Given the description of an element on the screen output the (x, y) to click on. 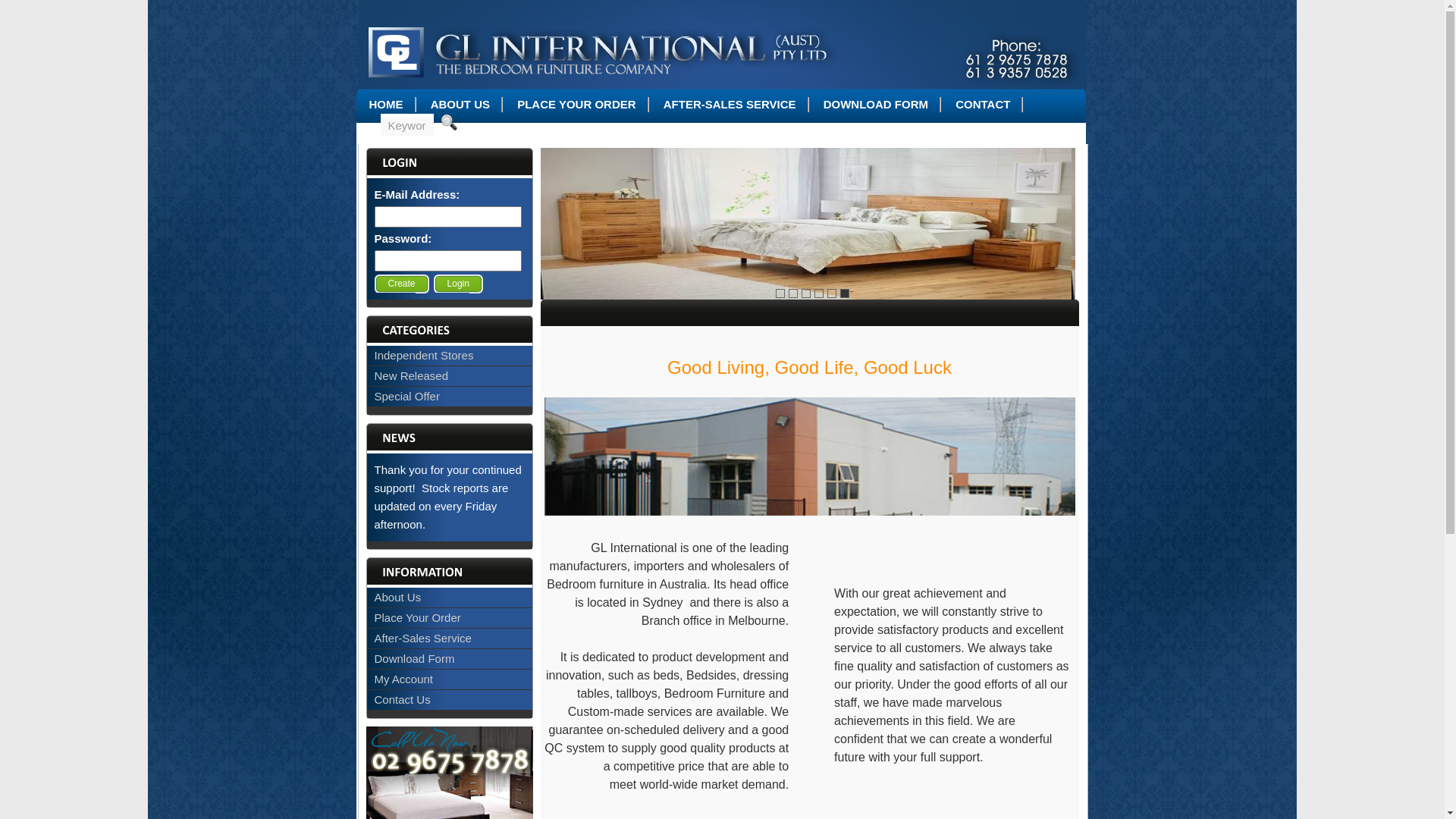
6 Element type: text (844, 293)
Independent Stores Element type: text (423, 354)
After-Sales Service Element type: text (422, 637)
Contact Us Element type: text (402, 699)
Create Element type: text (401, 283)
PLACE YOUR ORDER Element type: text (575, 104)
About Us Element type: text (397, 596)
Place Your Order Element type: text (417, 617)
ABOUT US Element type: text (460, 104)
DOWNLOAD FORM Element type: text (875, 104)
Login Element type: text (458, 283)
My Account Element type: text (403, 678)
1 Element type: text (779, 293)
New Released Element type: text (411, 375)
4 Element type: text (818, 293)
5 Element type: text (830, 293)
HOME Element type: text (385, 104)
3 Element type: text (804, 293)
2 Element type: text (792, 293)
Download Form Element type: text (414, 658)
Special Offer Element type: text (406, 395)
AFTER-SALES SERVICE Element type: text (729, 104)
Keywords Element type: text (406, 125)
CONTACT Element type: text (982, 104)
